Given the description of an element on the screen output the (x, y) to click on. 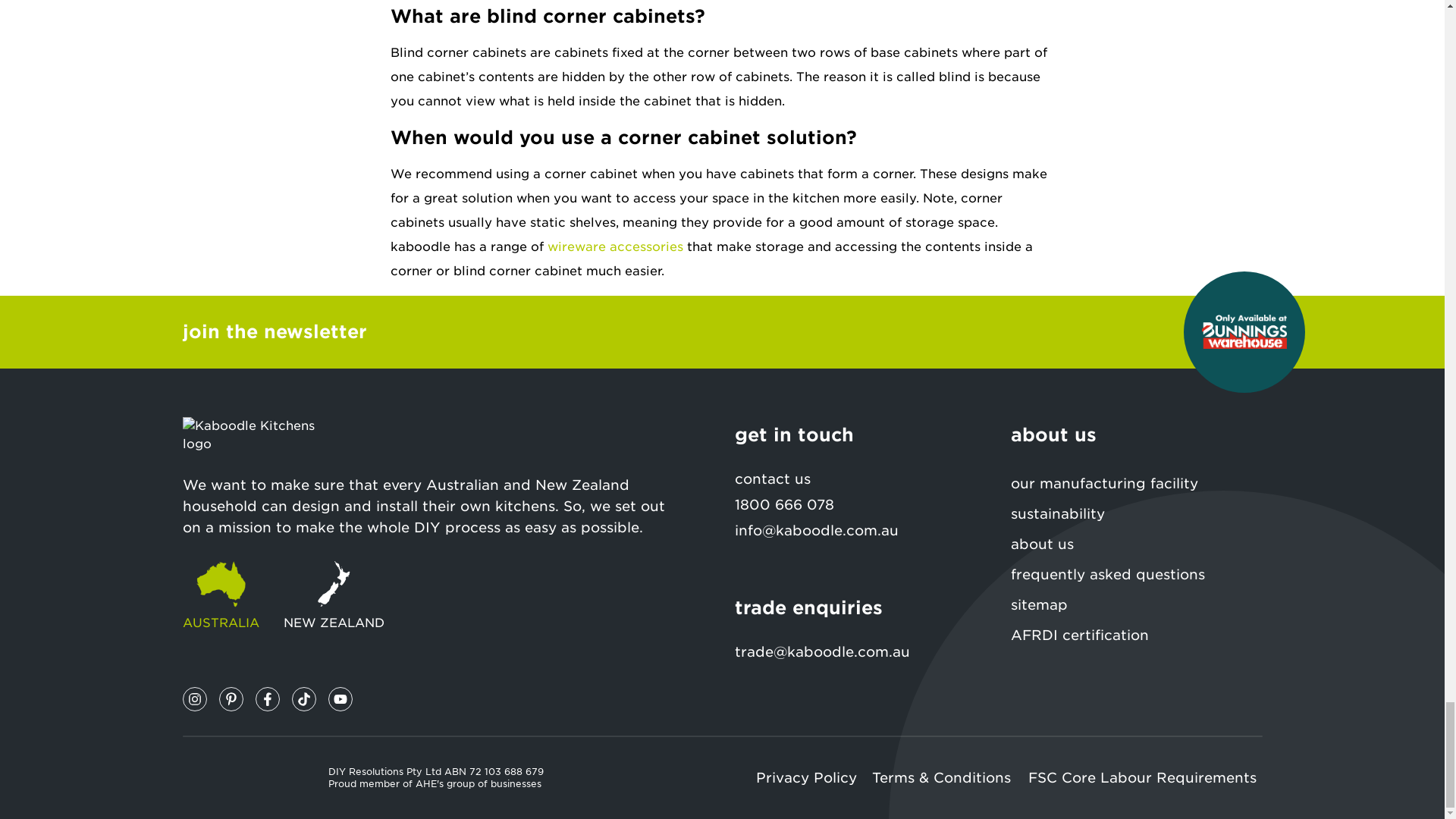
contact us (859, 478)
about us (1136, 544)
sitemap (1136, 604)
frequently asked questions (1136, 574)
our manufacturing facility (1136, 483)
1800 666 078 (782, 504)
sustainability (1136, 513)
